Given the description of an element on the screen output the (x, y) to click on. 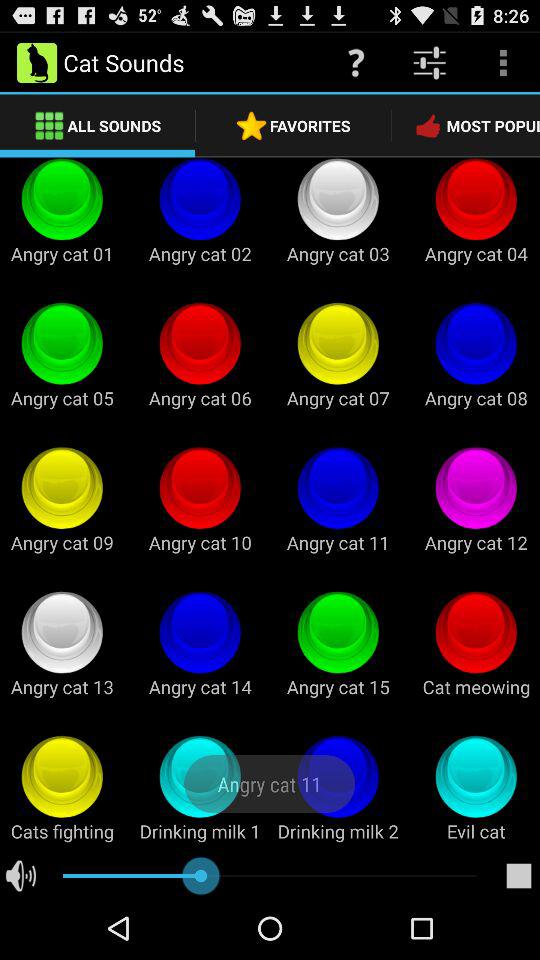
tap item above the most popular (503, 62)
